Given the description of an element on the screen output the (x, y) to click on. 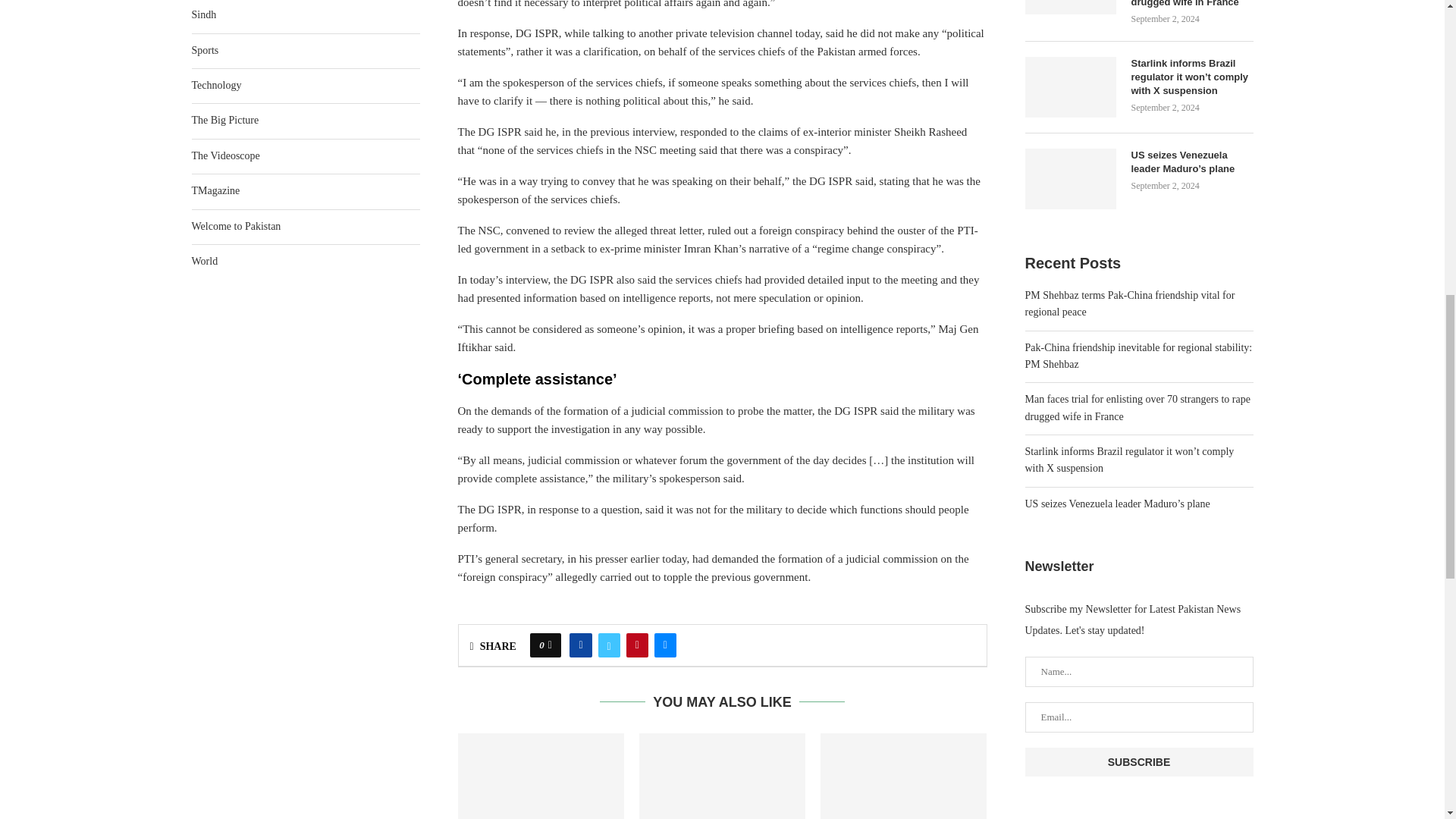
Subscribe (1139, 761)
